Given the description of an element on the screen output the (x, y) to click on. 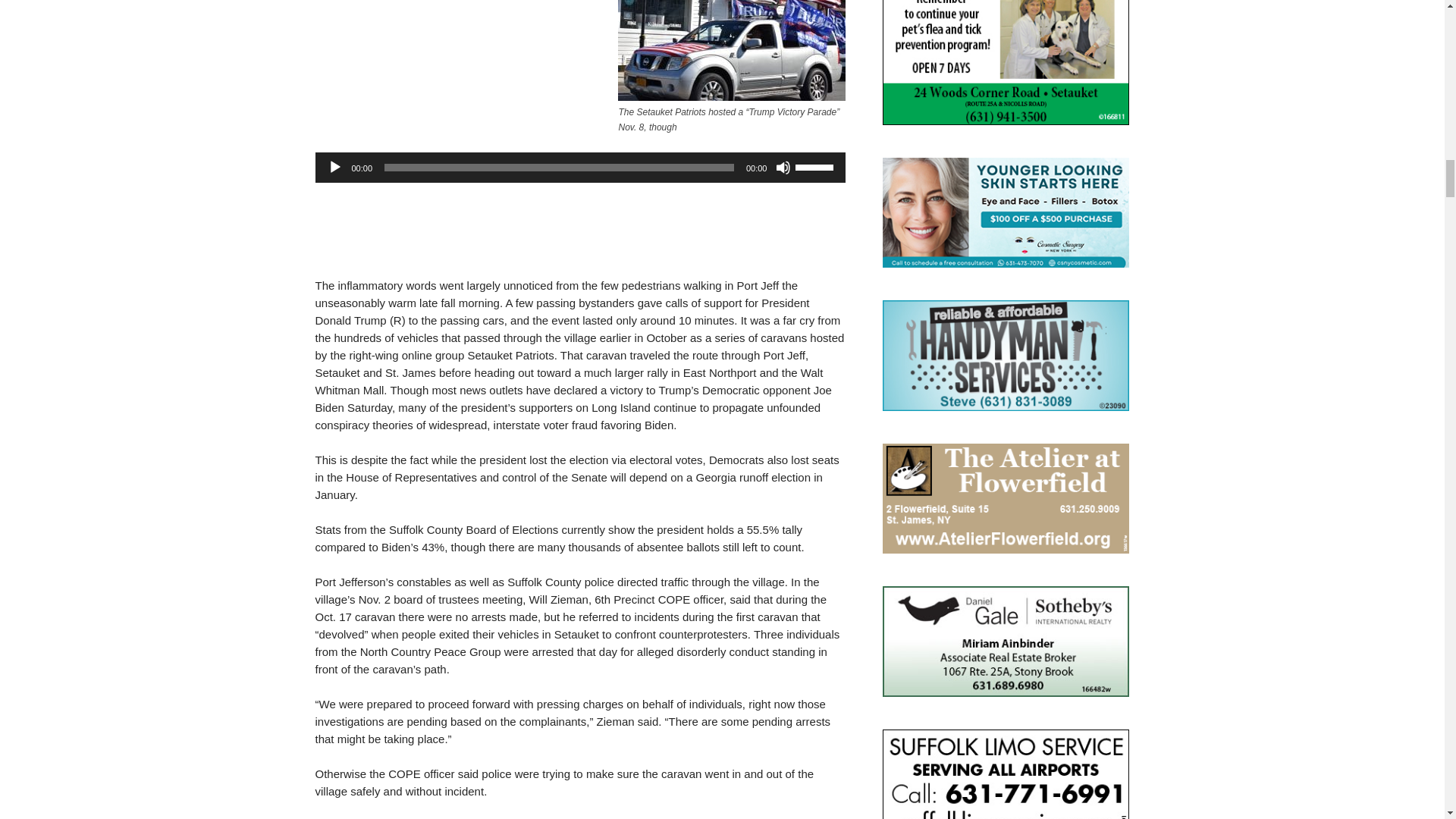
Mute (783, 167)
Play (334, 167)
